Given the description of an element on the screen output the (x, y) to click on. 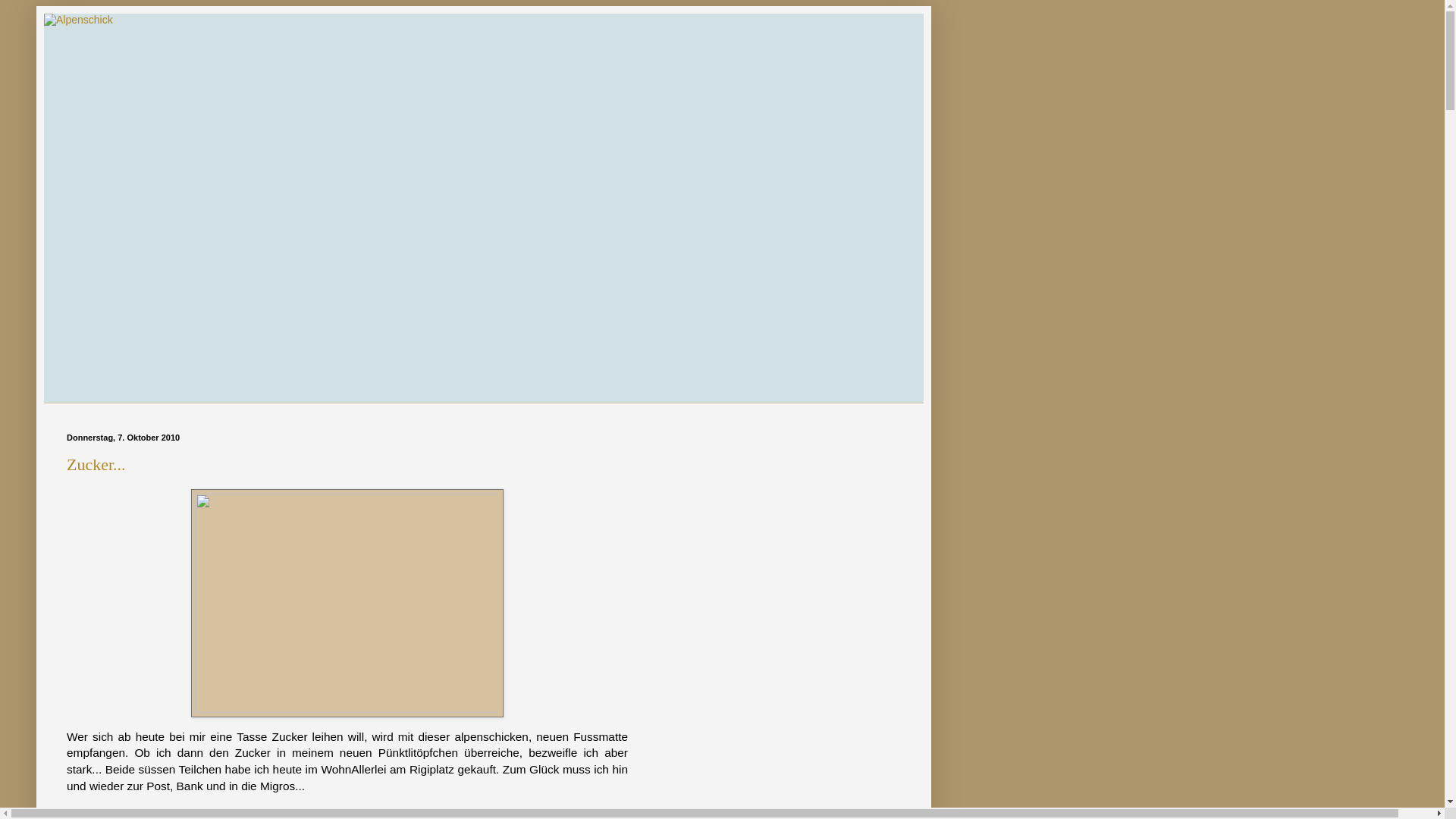
Zucker... Element type: text (95, 464)
